Given the description of an element on the screen output the (x, y) to click on. 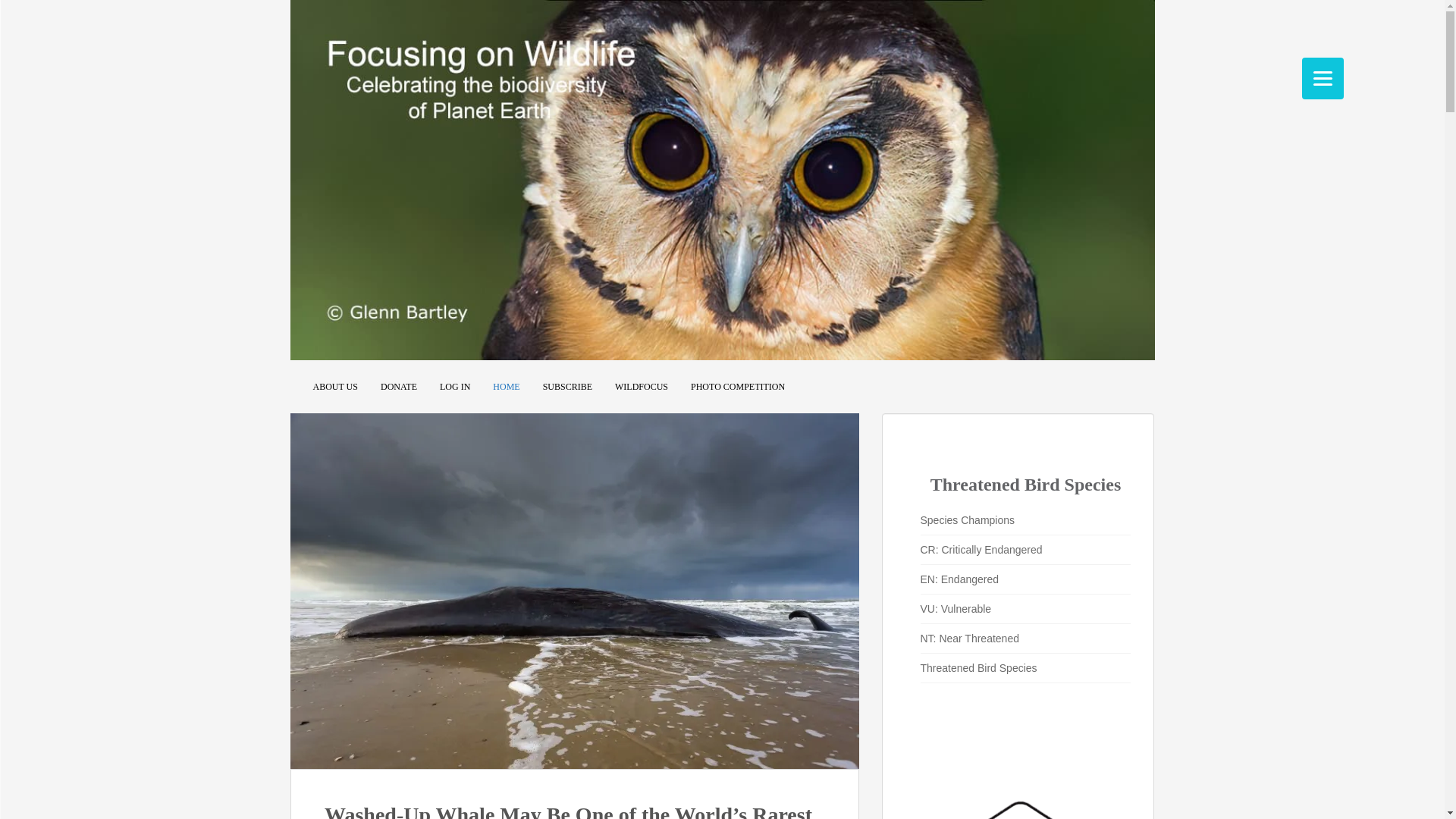
LOG IN (454, 386)
PHOTO COMPETITION (737, 386)
SUBSCRIBE (567, 386)
WILDFOCUS (641, 386)
ABOUT US (334, 386)
DONATE (398, 386)
